Given the description of an element on the screen output the (x, y) to click on. 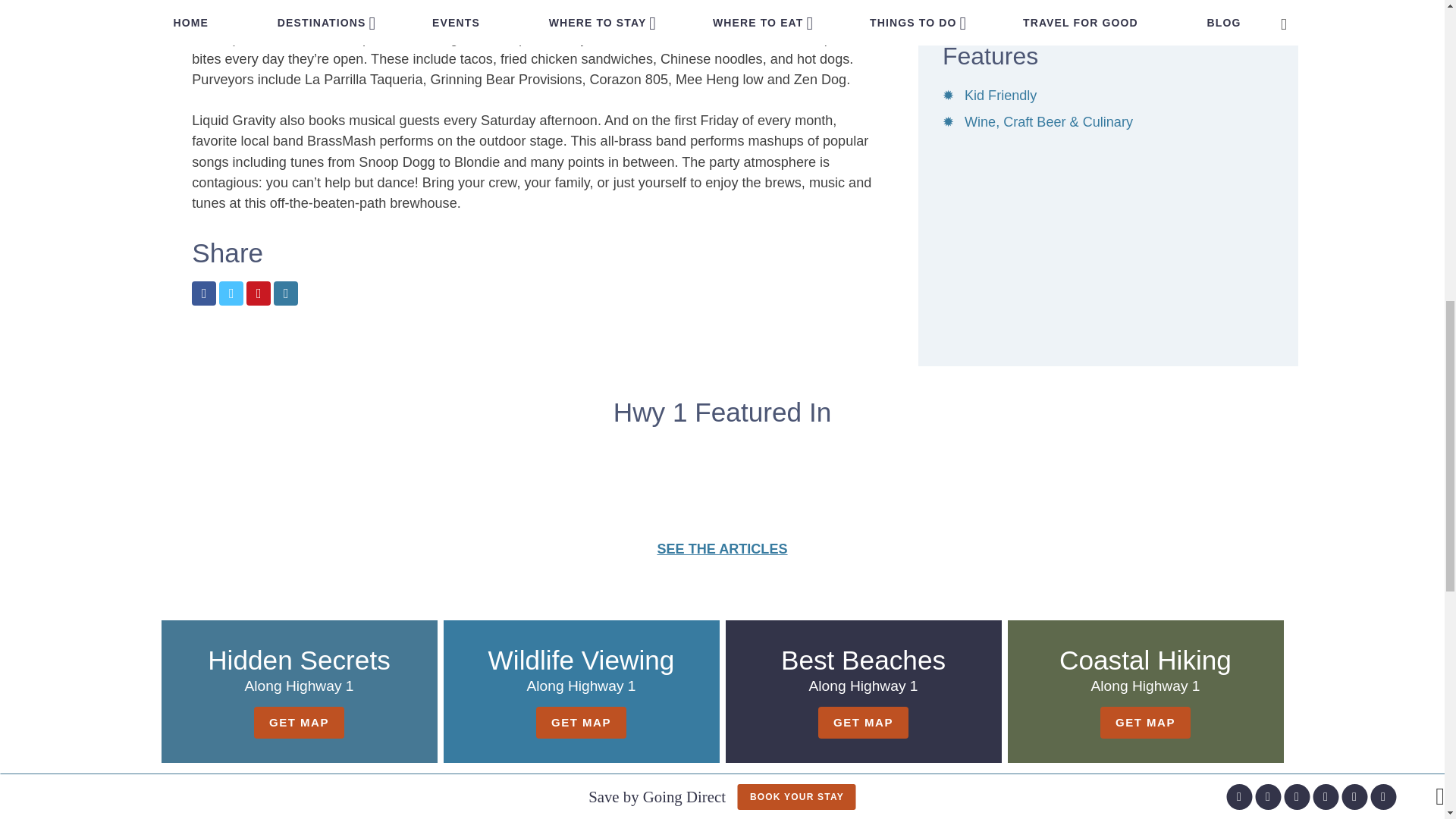
Share on Facebook (203, 293)
Share on Twitter (231, 293)
Share by Email (285, 293)
Share on Pinterest (258, 293)
